Given the description of an element on the screen output the (x, y) to click on. 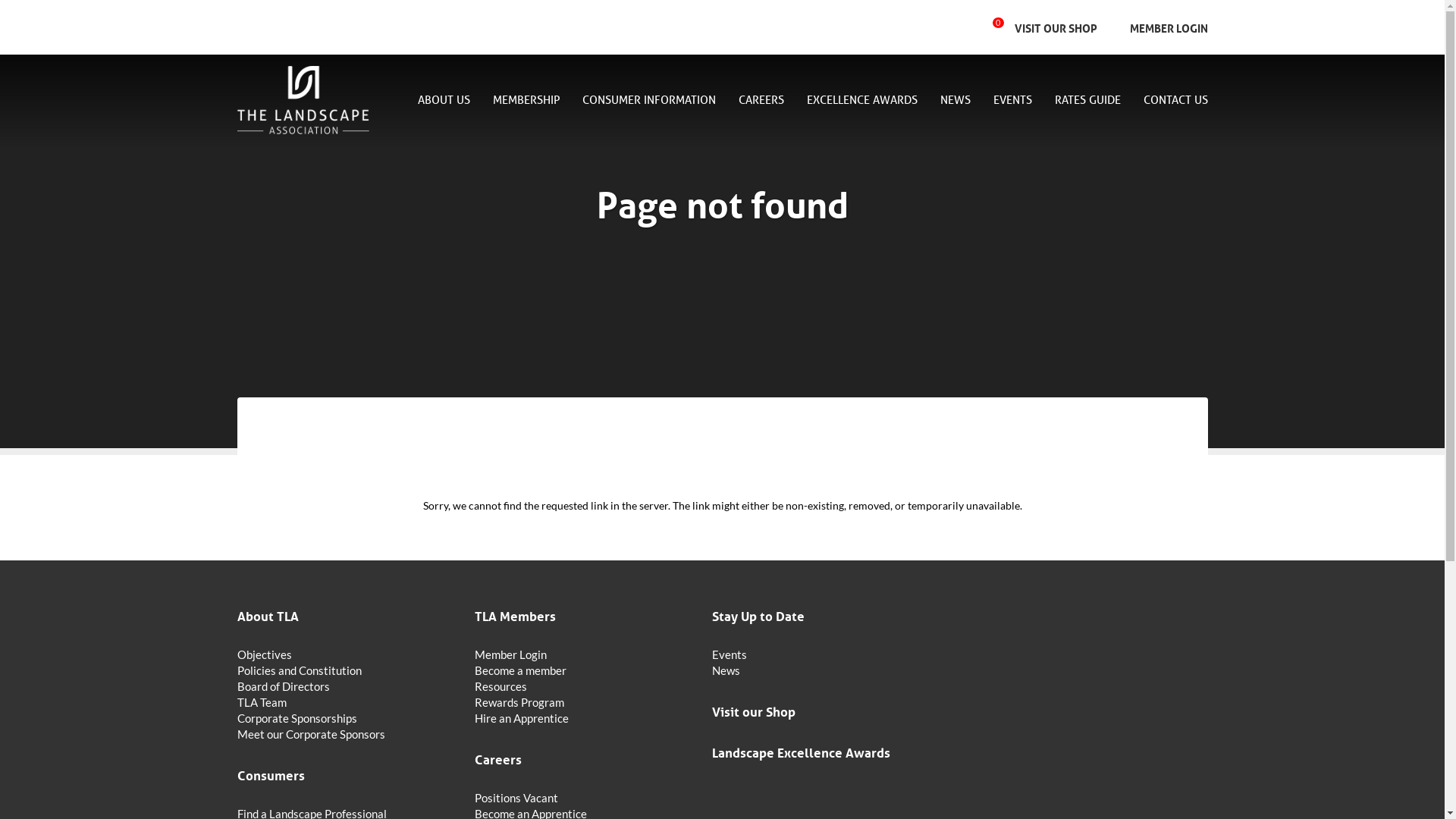
TLA Team Element type: text (345, 702)
ABOUT US Element type: text (443, 101)
0 Element type: text (1003, 26)
Positions Vacant Element type: text (583, 798)
Corporate Sponsorships Element type: text (345, 718)
TLA Members Element type: text (583, 614)
CAREERS Element type: text (761, 101)
RATES GUIDE Element type: text (1087, 100)
MEMBER LOGIN Element type: text (1163, 27)
Careers Element type: text (583, 758)
Visit our Shop Element type: text (821, 710)
Become a member Element type: text (583, 670)
Policies and Constitution Element type: text (345, 670)
VISIT OUR SHOP Element type: text (1055, 27)
NEWS Element type: text (955, 101)
Objectives Element type: text (345, 654)
Meet our Corporate Sponsors Element type: text (345, 734)
Member Login Element type: text (583, 654)
Board of Directors Element type: text (345, 686)
Resources Element type: text (583, 686)
Events Element type: text (821, 654)
CONSUMER INFORMATION Element type: text (648, 101)
Landscape Excellence Awards Element type: text (821, 751)
EXCELLENCE AWARDS Element type: text (861, 101)
Search Element type: hover (906, 27)
Hire an Apprentice Element type: text (583, 718)
About TLA Element type: text (345, 614)
CONTACT US Element type: text (1169, 100)
MEMBERSHIP Element type: text (525, 101)
EVENTS Element type: text (1012, 101)
News Element type: text (821, 670)
Consumers Element type: text (345, 774)
Rewards Program Element type: text (583, 702)
